Given the description of an element on the screen output the (x, y) to click on. 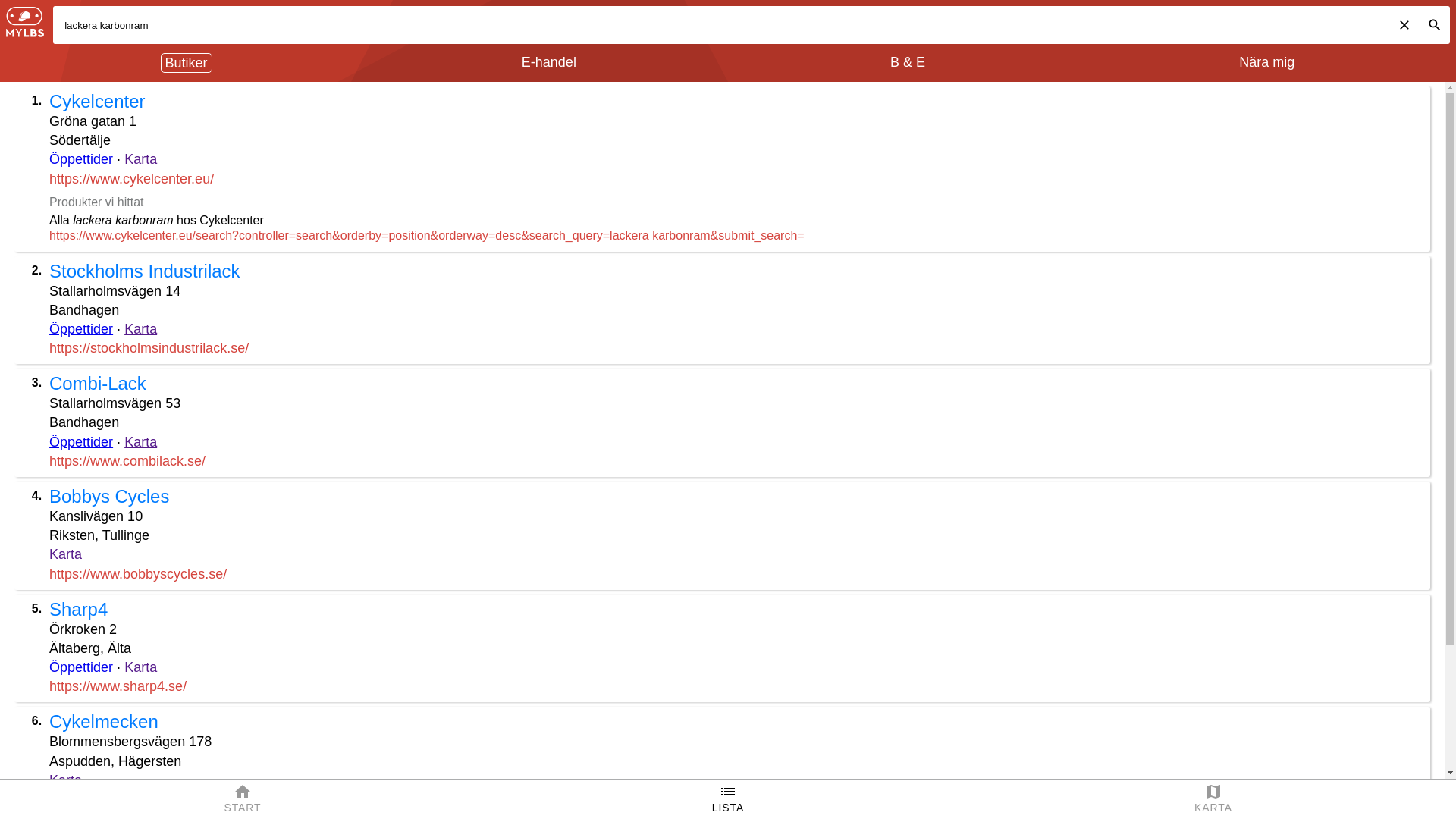
https://www.sharp4.se/ Element type: text (117, 685)
Karta Element type: text (140, 666)
Karta Element type: text (140, 328)
https://cykelmecken.se/ Element type: text (120, 798)
https://www.cykelcenter.eu/ Element type: text (131, 178)
Karta Element type: text (140, 158)
https://www.combilack.se/ Element type: text (127, 460)
Karta Element type: text (65, 779)
https://stockholmsindustrilack.se/ Element type: text (148, 347)
https://www.bobbyscycles.se/ Element type: text (137, 573)
Karta Element type: text (140, 441)
Karta Element type: text (65, 553)
